Given the description of an element on the screen output the (x, y) to click on. 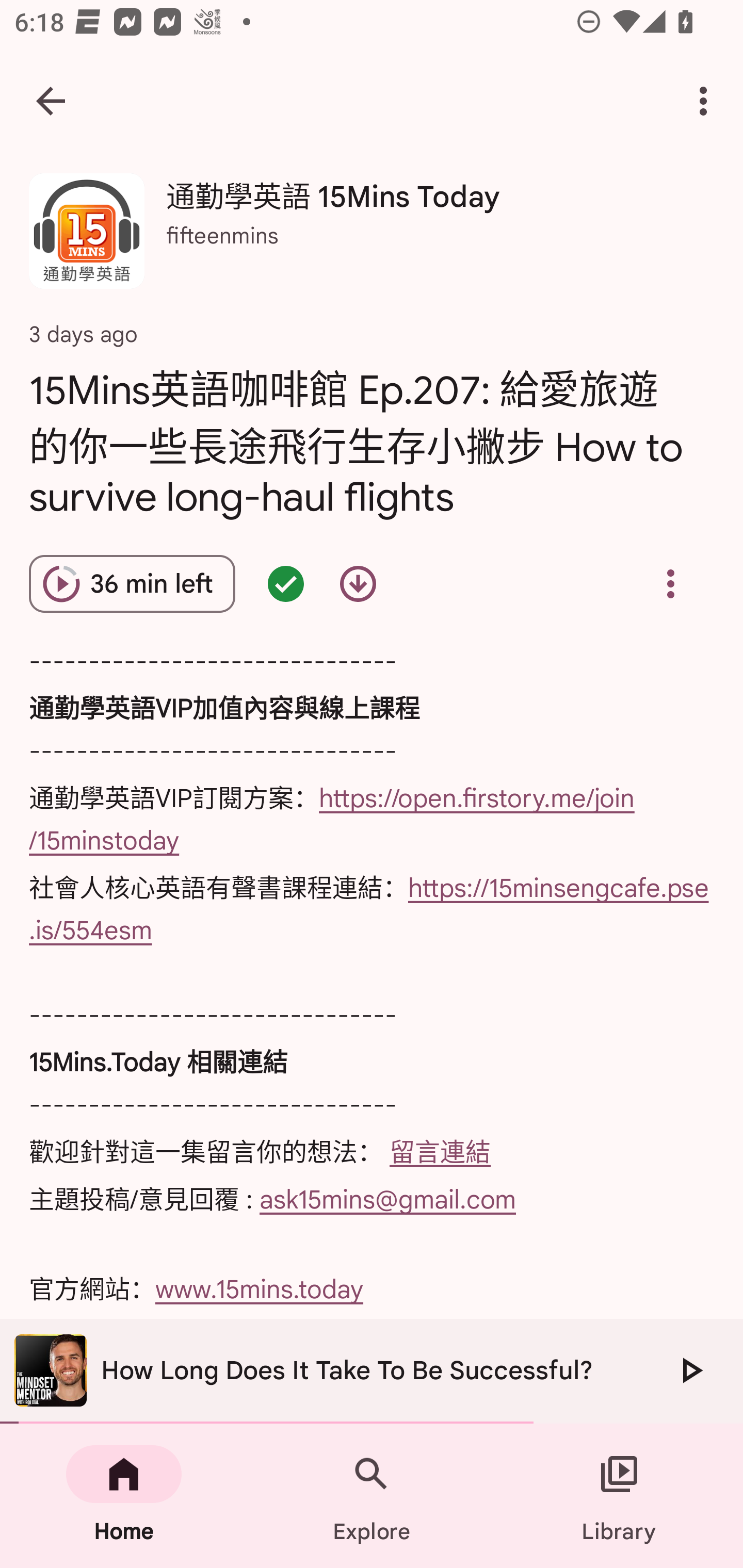
Navigate up (50, 101)
More options (706, 101)
通勤學英語 15Mins Today 通勤學英語 15Mins Today fifteenmins (371, 238)
Episode queued - double tap for options (285, 583)
Download episode (357, 583)
Overflow menu (670, 583)
Play (690, 1370)
Explore (371, 1495)
Library (619, 1495)
